Given the description of an element on the screen output the (x, y) to click on. 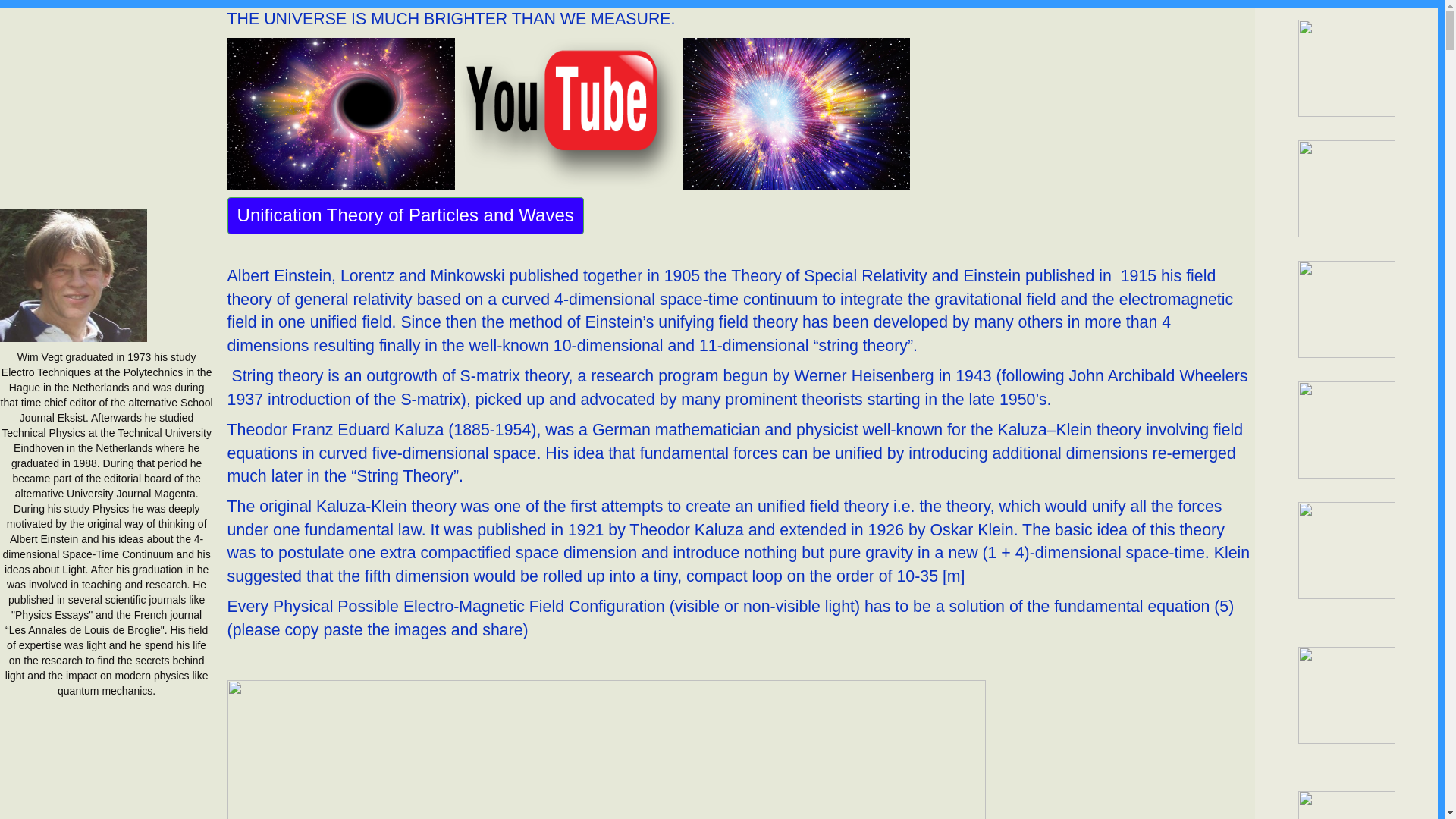
Unification Theory of Particles and Waves Element type: text (405, 215)
